Given the description of an element on the screen output the (x, y) to click on. 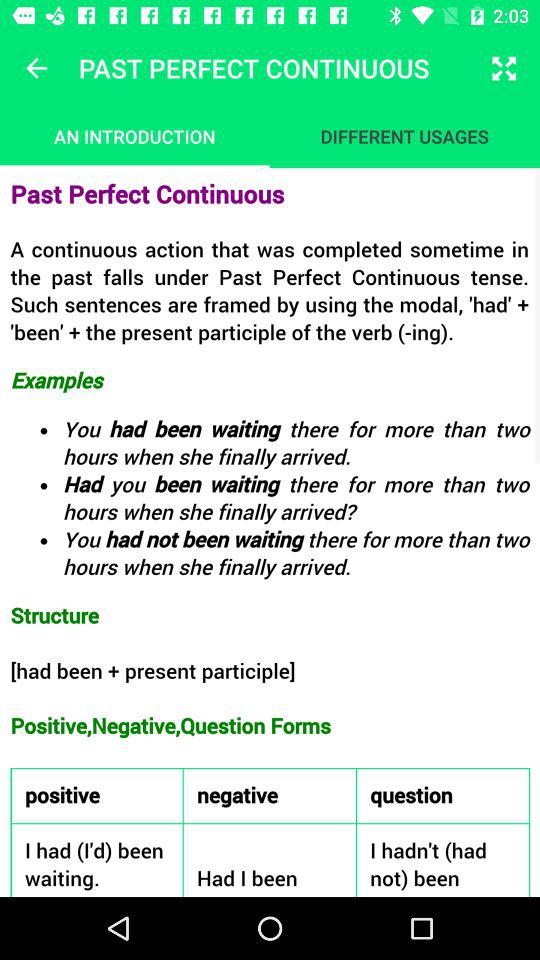
click to select text (270, 532)
